Given the description of an element on the screen output the (x, y) to click on. 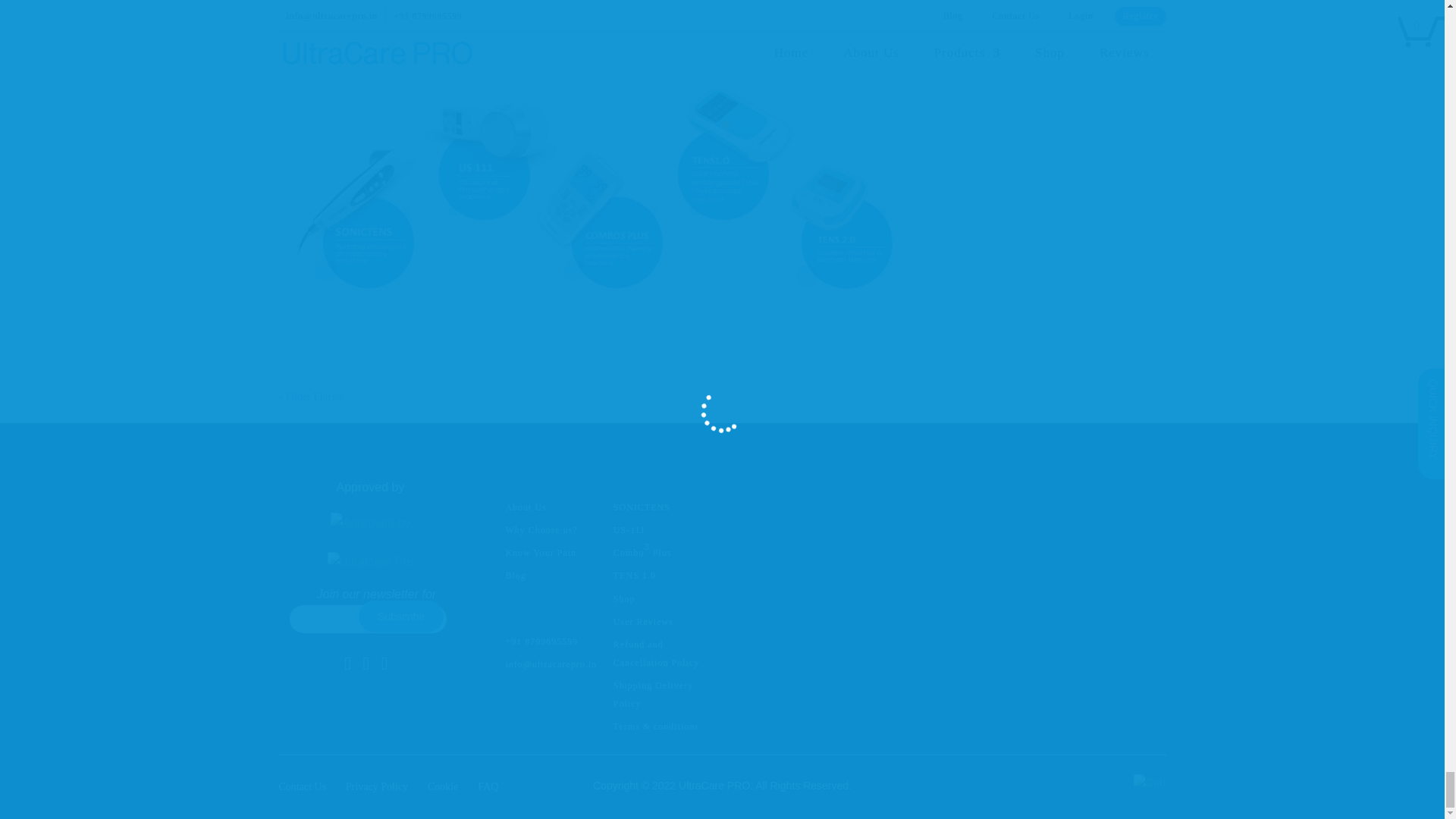
Subscribe (401, 616)
